Given the description of an element on the screen output the (x, y) to click on. 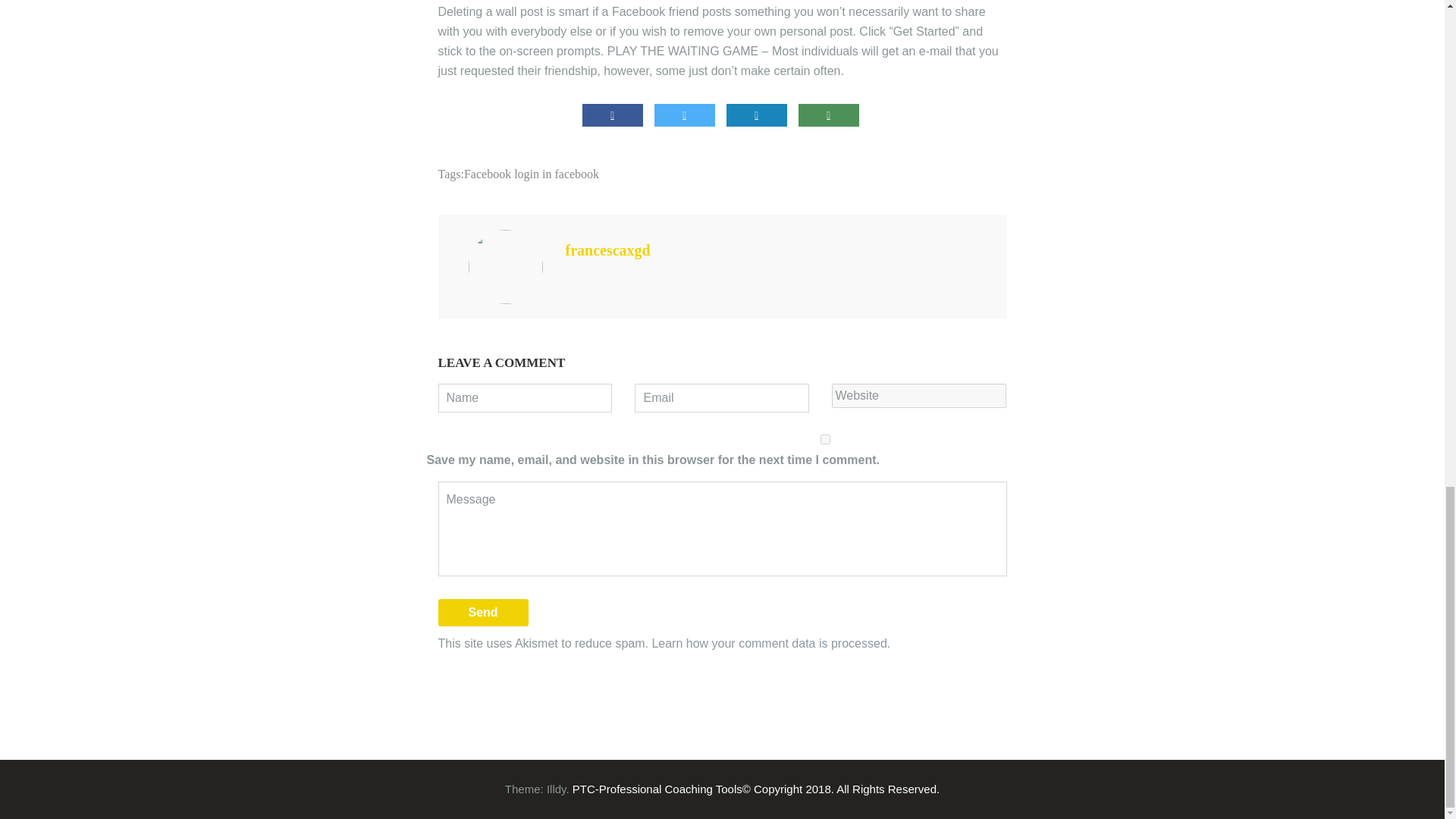
Send (483, 612)
Illdy (556, 788)
Facebook login in facebook (531, 173)
Learn how your comment data is processed (768, 643)
Illdy (556, 788)
yes (825, 439)
Send (483, 612)
